Given the description of an element on the screen output the (x, y) to click on. 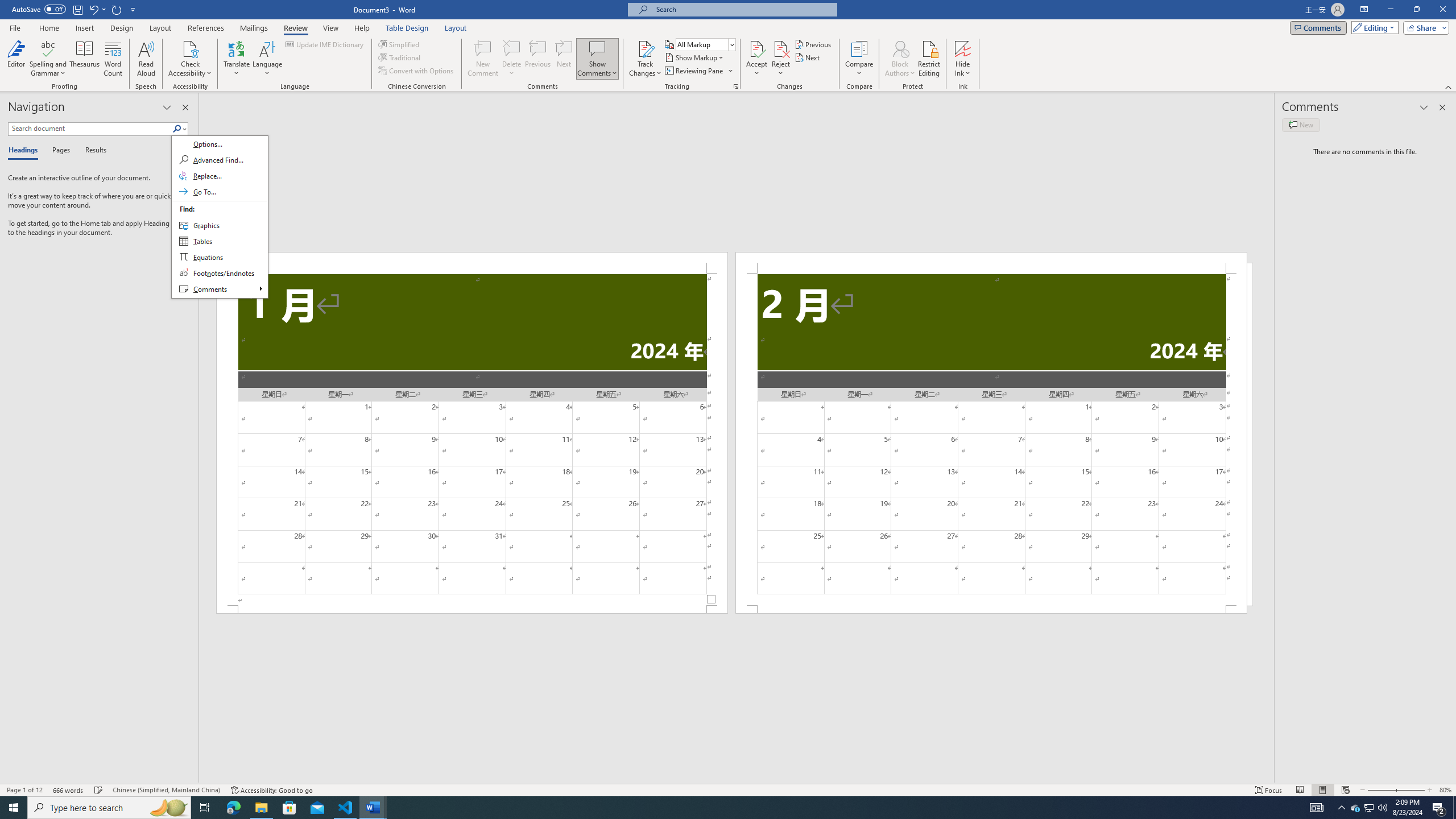
Compare (859, 58)
New Comment (482, 58)
Microsoft Edge (233, 807)
